Given the description of an element on the screen output the (x, y) to click on. 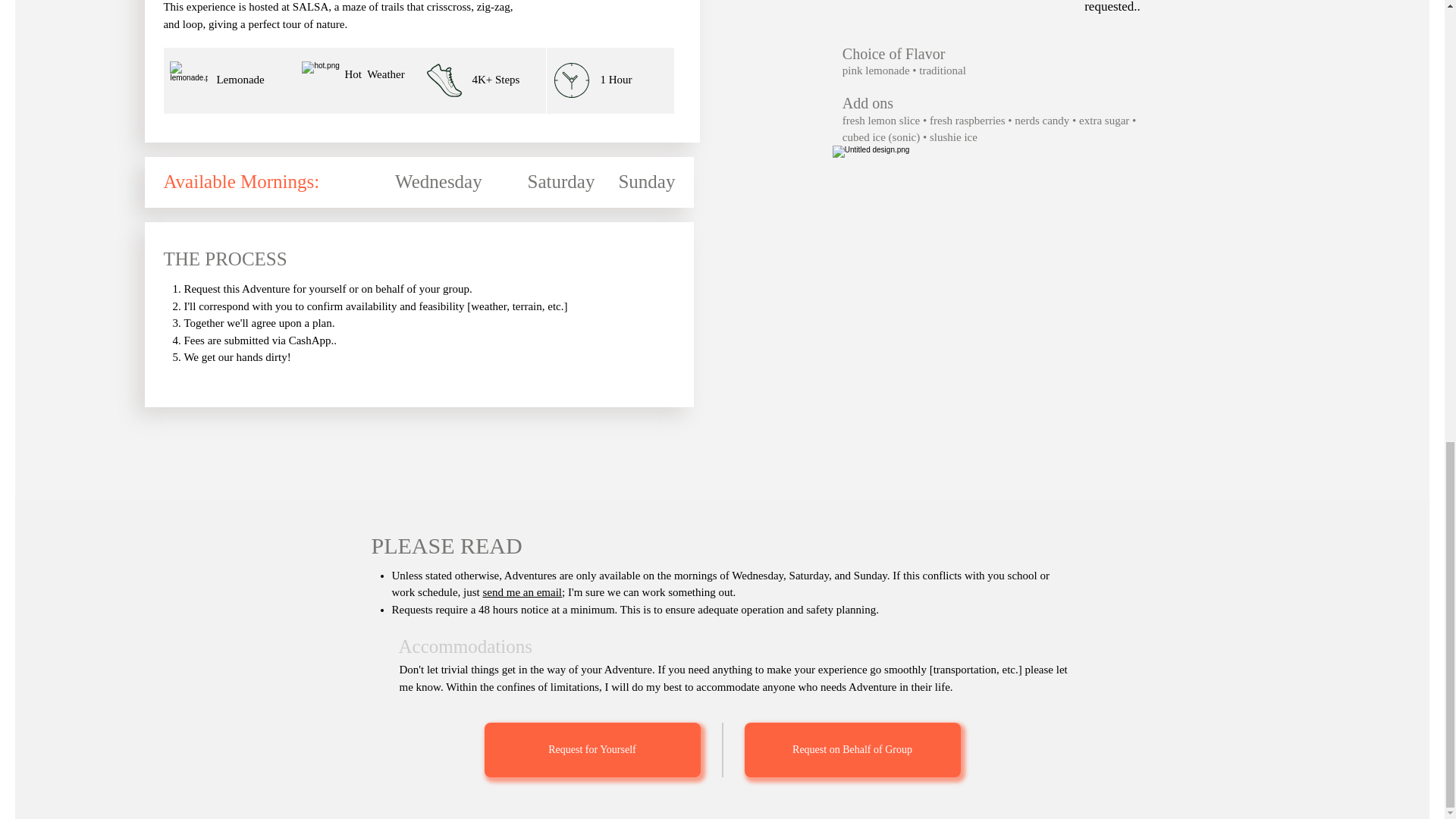
send me an email (521, 592)
hot-chocolate.png (189, 80)
Request for Yourself (591, 749)
Request on Behalf of Group (852, 749)
snowflake.png (320, 80)
